Given the description of an element on the screen output the (x, y) to click on. 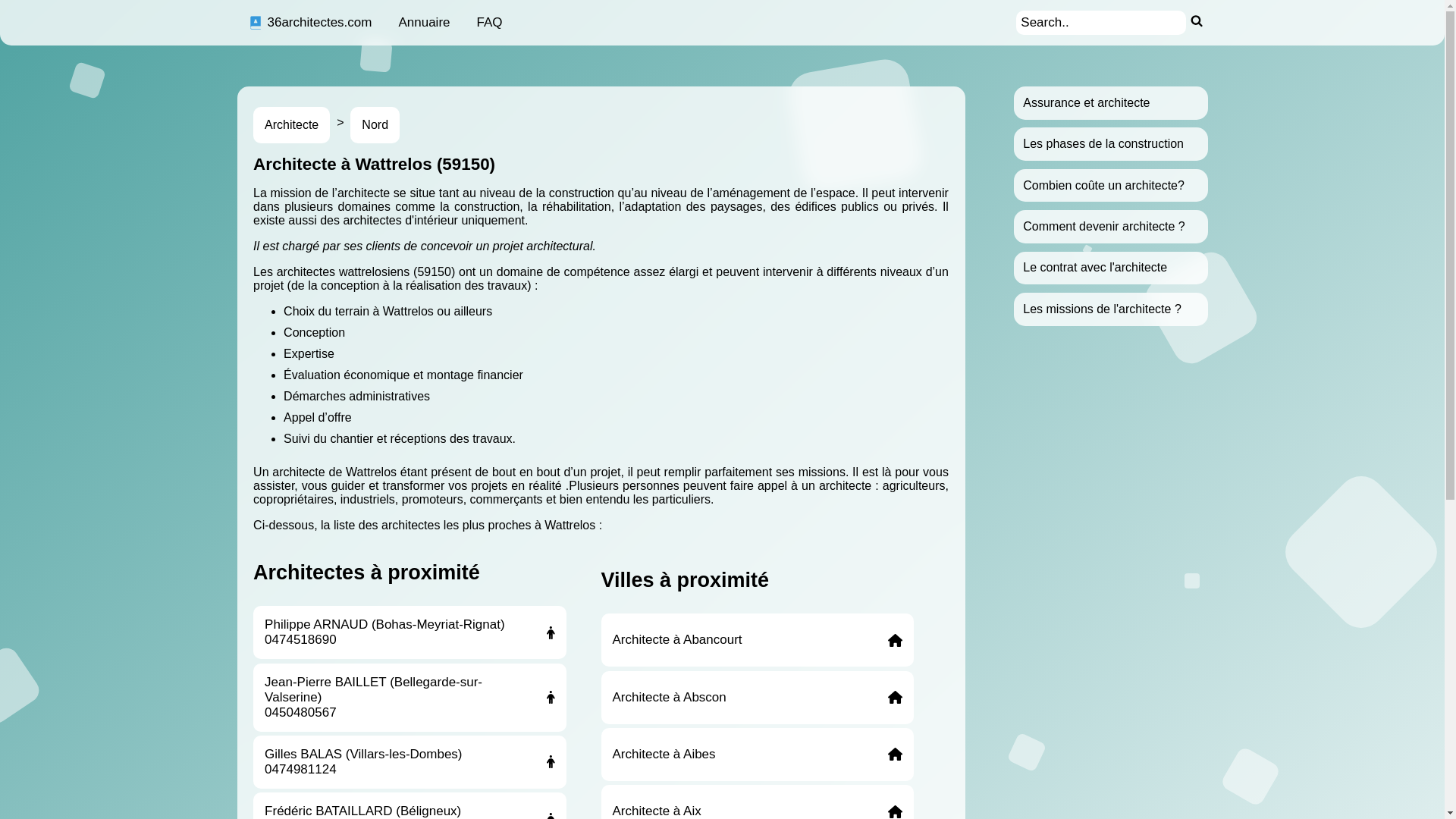
Assurance et architecte Element type: text (1085, 102)
FAQ Element type: text (489, 22)
36architectes.com Element type: text (309, 22)
Nord Element type: text (374, 124)
Philippe ARNAUD (Bohas-Meyriat-Rignat)
0474518690 Element type: text (409, 631)
Architecte Element type: text (291, 124)
Les missions de l'architecte ? Element type: text (1101, 308)
Gilles BALAS (Villars-les-Dombes)
0474981124 Element type: text (409, 761)
Annuaire Element type: text (423, 22)
Les phases de la construction Element type: text (1102, 143)
Comment devenir architecte ? Element type: text (1103, 225)
Jean-Pierre BAILLET (Bellegarde-sur-Valserine)
0450480567 Element type: text (409, 697)
Le contrat avec l'architecte Element type: text (1094, 266)
